Given the description of an element on the screen output the (x, y) to click on. 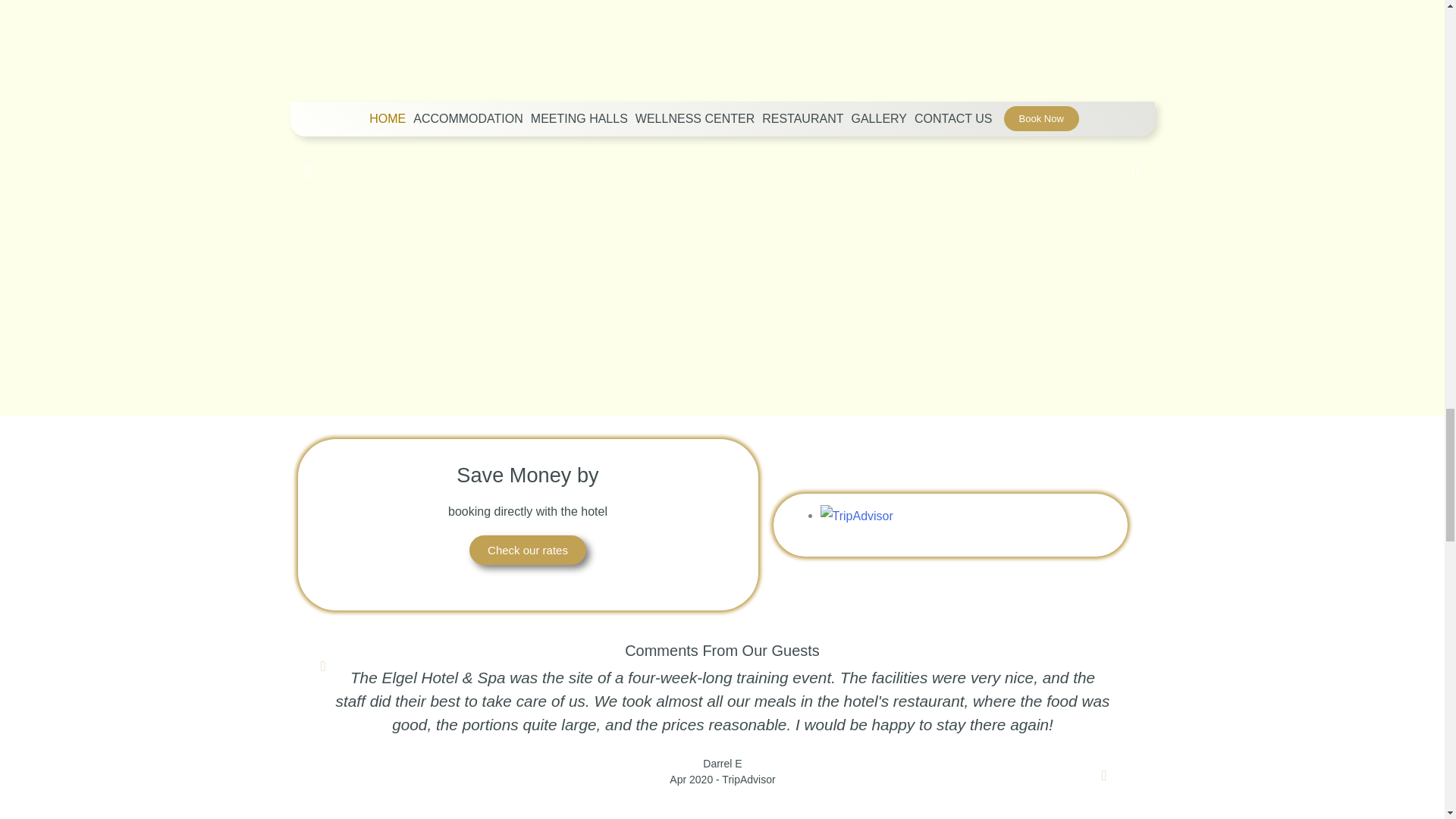
Check our rates (527, 550)
